Given the description of an element on the screen output the (x, y) to click on. 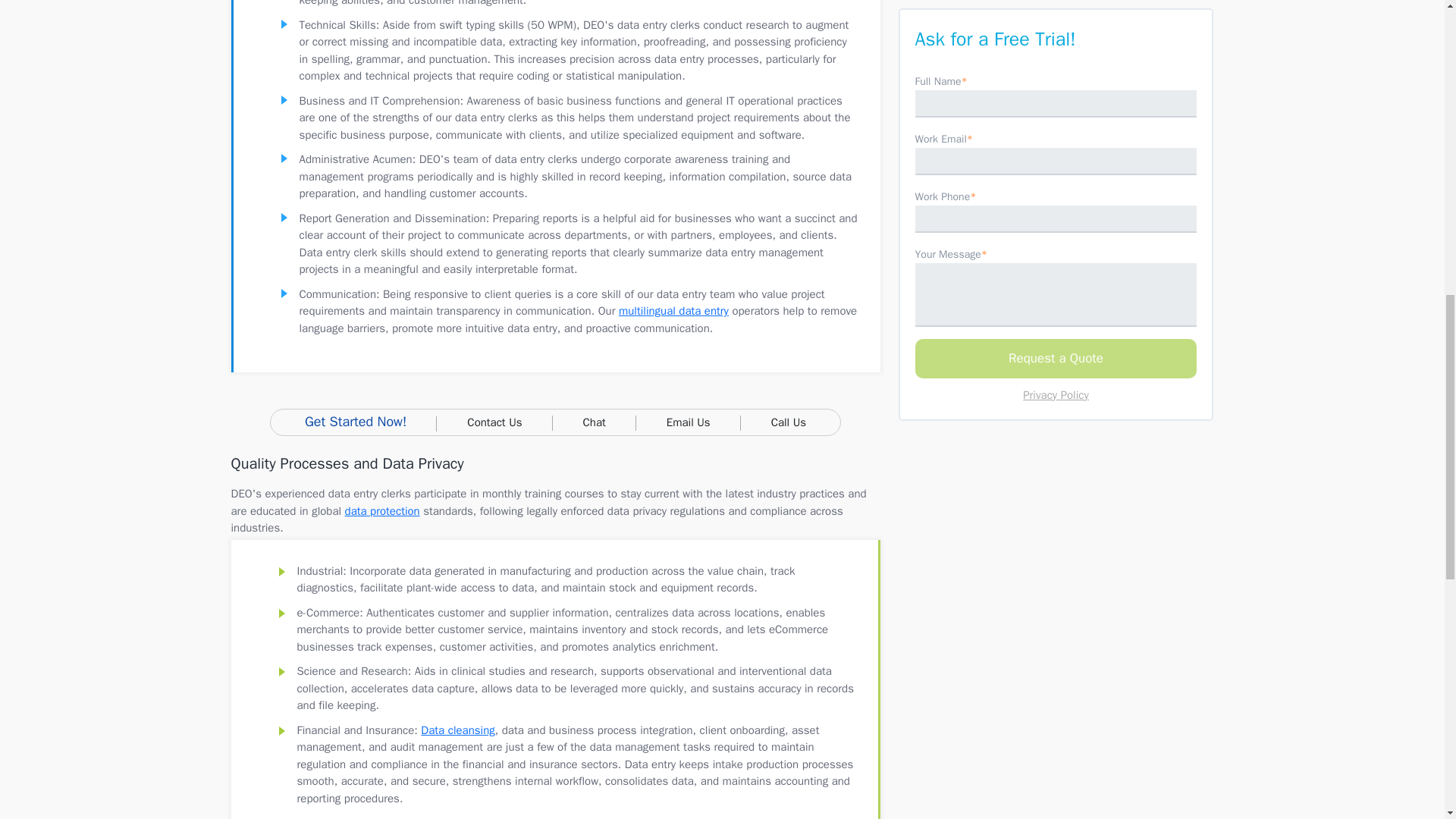
Data Cleansing Services (457, 730)
multilingual data entry (673, 310)
Data Security (382, 509)
